Given the description of an element on the screen output the (x, y) to click on. 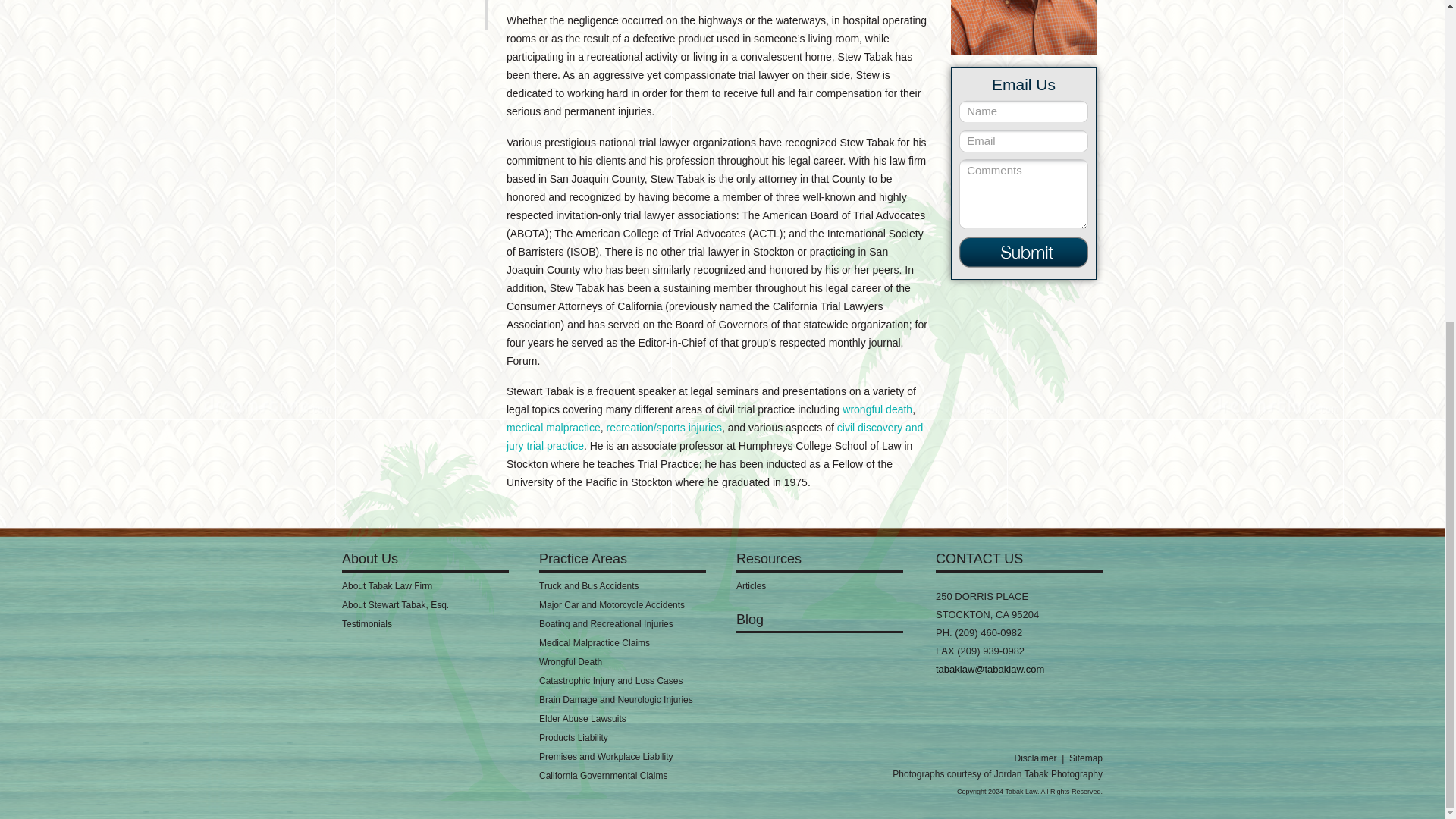
 Email (1023, 140)
civil discovery and jury trial practice (714, 436)
medical malpractice (552, 427)
Submit (1023, 251)
wrongful death (877, 409)
 Name (1023, 110)
Submit (1023, 251)
